Given the description of an element on the screen output the (x, y) to click on. 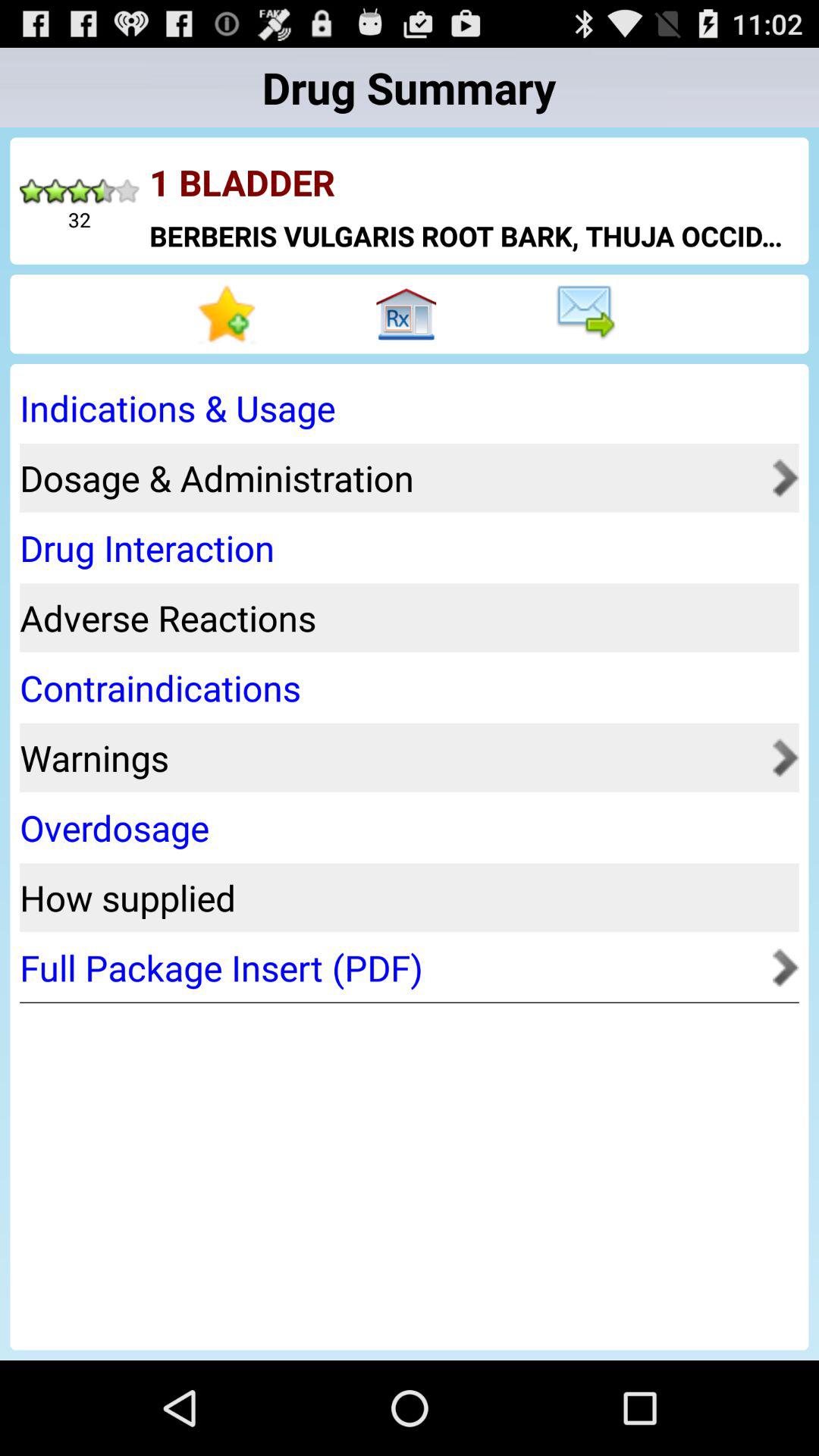
flip until the contraindications (403, 687)
